Given the description of an element on the screen output the (x, y) to click on. 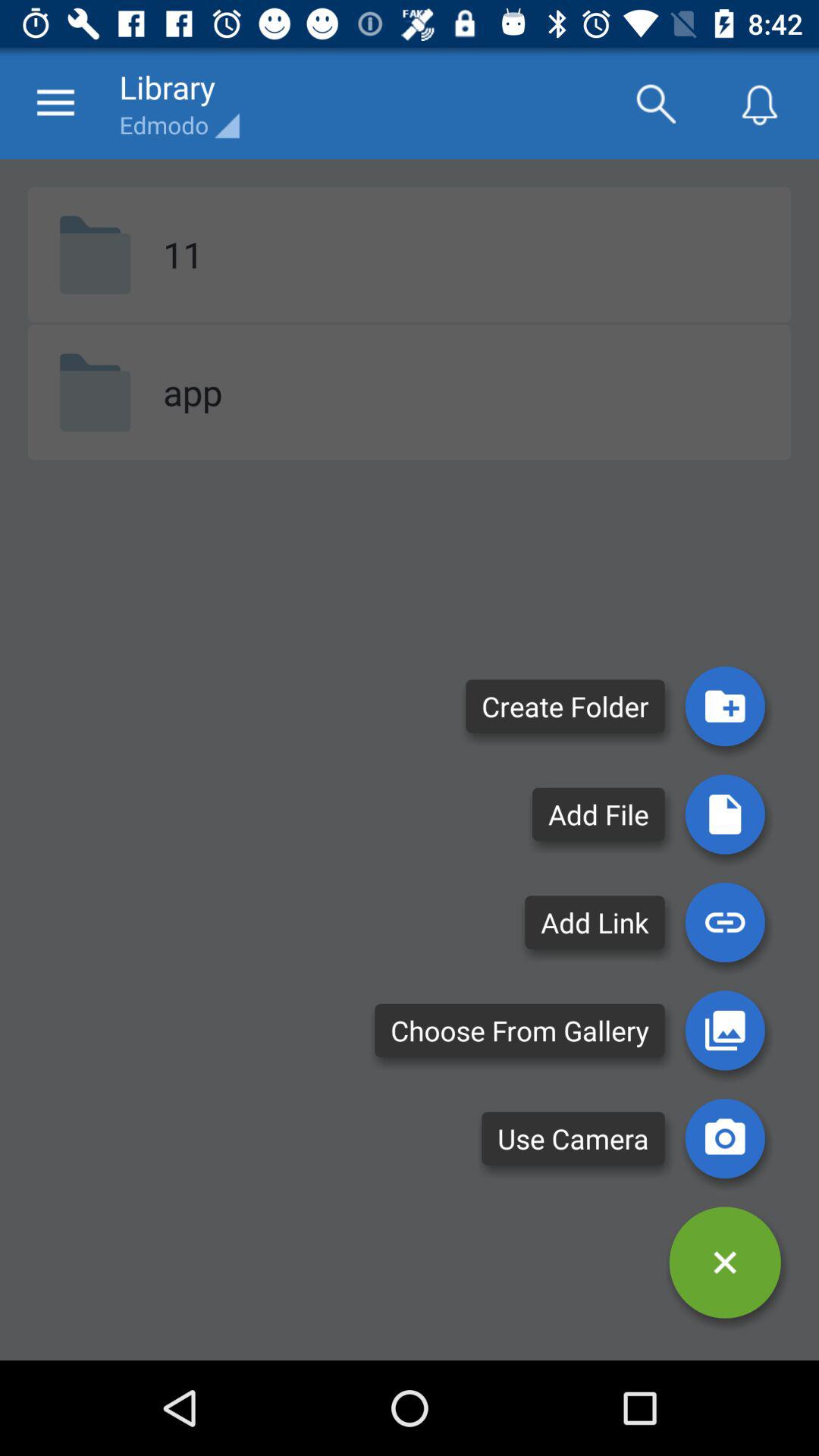
turn on icon to the right of library item (655, 103)
